Given the description of an element on the screen output the (x, y) to click on. 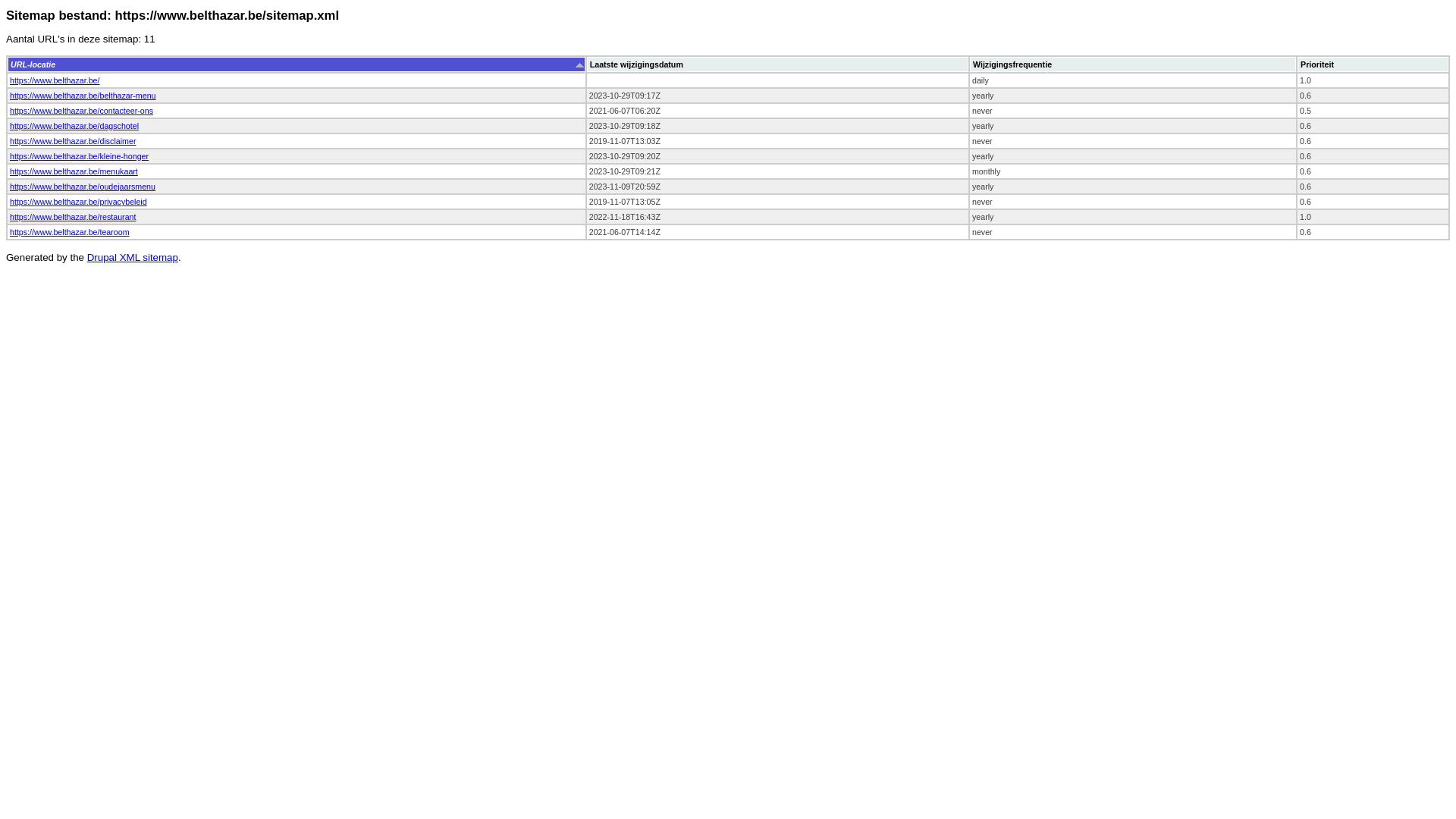
https://www.belthazar.be/contacteer-ons Element type: text (81, 110)
Drupal XML sitemap Element type: text (132, 257)
https://www.belthazar.be/tearoom Element type: text (69, 231)
https://www.belthazar.be/kleine-honger Element type: text (78, 155)
https://www.belthazar.be/disclaimer Element type: text (72, 140)
https://www.belthazar.be/belthazar-menu Element type: text (82, 95)
https://www.belthazar.be/privacybeleid Element type: text (78, 201)
https://www.belthazar.be/menukaart Element type: text (73, 170)
https://www.belthazar.be/restaurant Element type: text (72, 216)
https://www.belthazar.be/ Element type: text (54, 79)
https://www.belthazar.be/oudejaarsmenu Element type: text (82, 186)
https://www.belthazar.be/dagschotel Element type: text (73, 125)
